Given the description of an element on the screen output the (x, y) to click on. 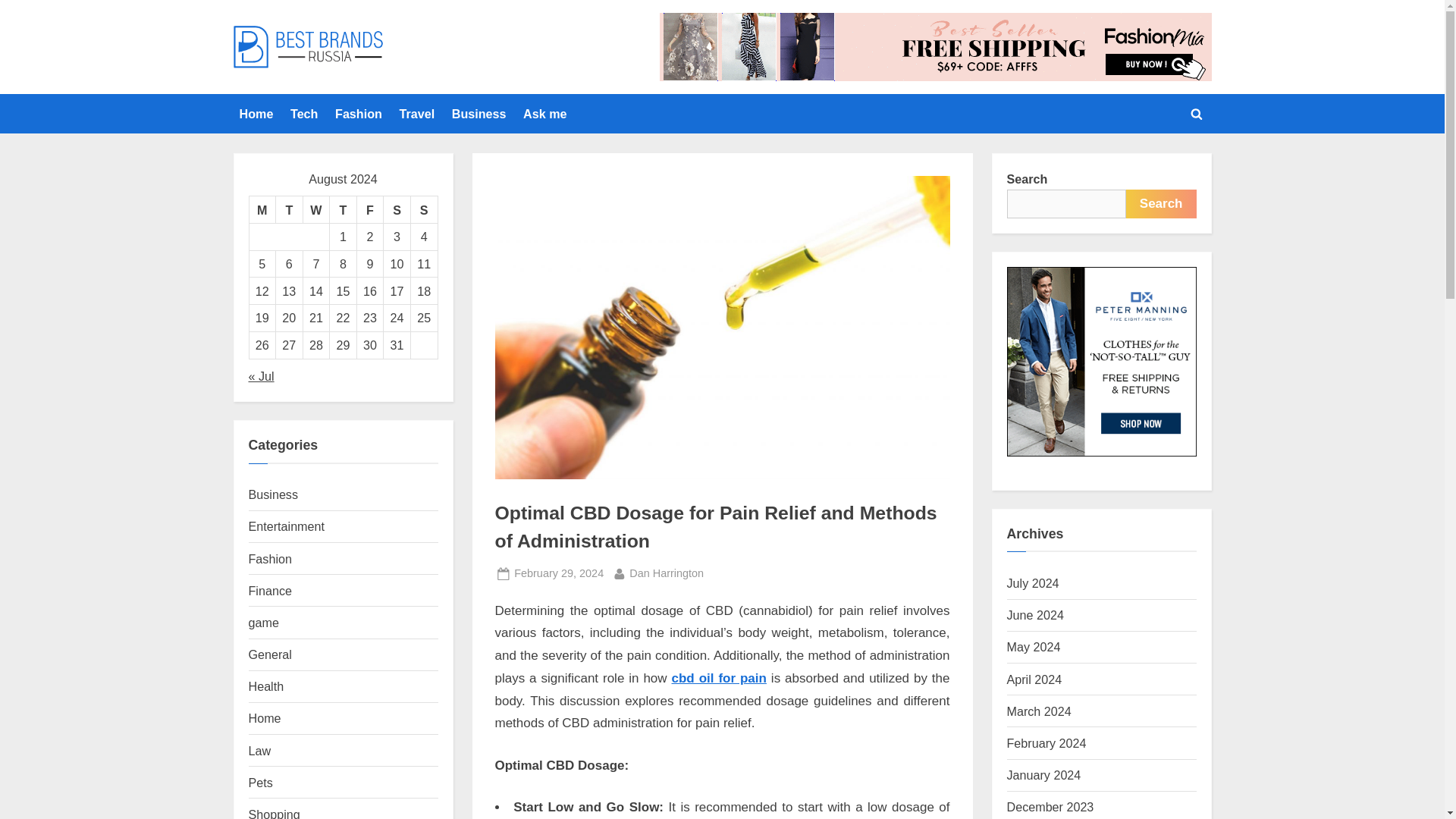
Friday (370, 209)
Shopping (273, 813)
cbd oil for pain (719, 677)
April 2024 (1034, 679)
Fashion (358, 113)
Entertainment (286, 526)
July 2024 (1033, 582)
Home (255, 113)
Search (1160, 203)
Fashion (270, 558)
